Given the description of an element on the screen output the (x, y) to click on. 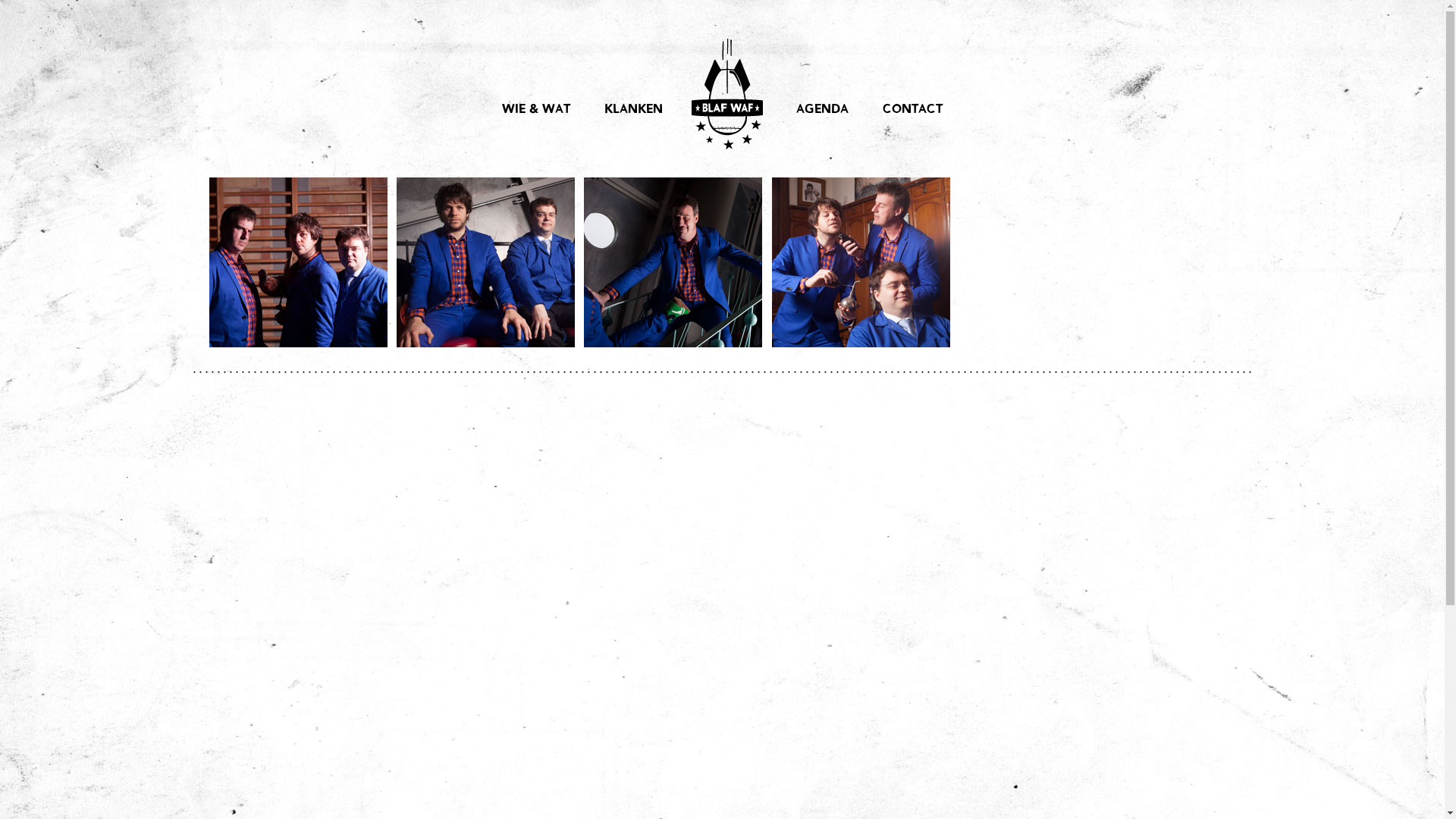
WIE & WAT Element type: text (536, 109)
CONTACT Element type: text (912, 109)
KLANKEN Element type: text (633, 109)
AGENDA Element type: text (822, 109)
